Given the description of an element on the screen output the (x, y) to click on. 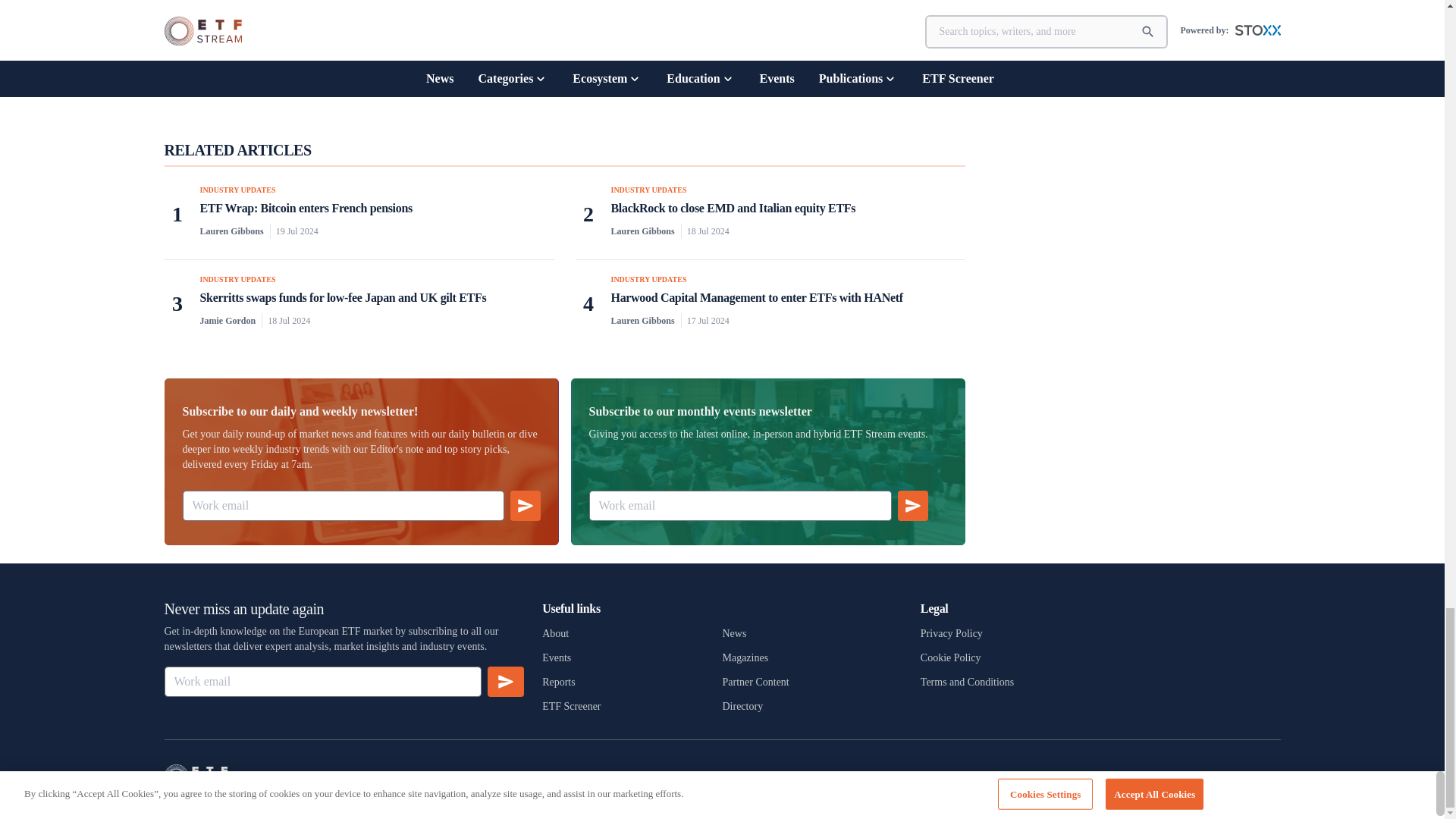
INDEX PROVIDERS (712, 75)
EQUITIES (596, 75)
INDEXING (646, 75)
